Given the description of an element on the screen output the (x, y) to click on. 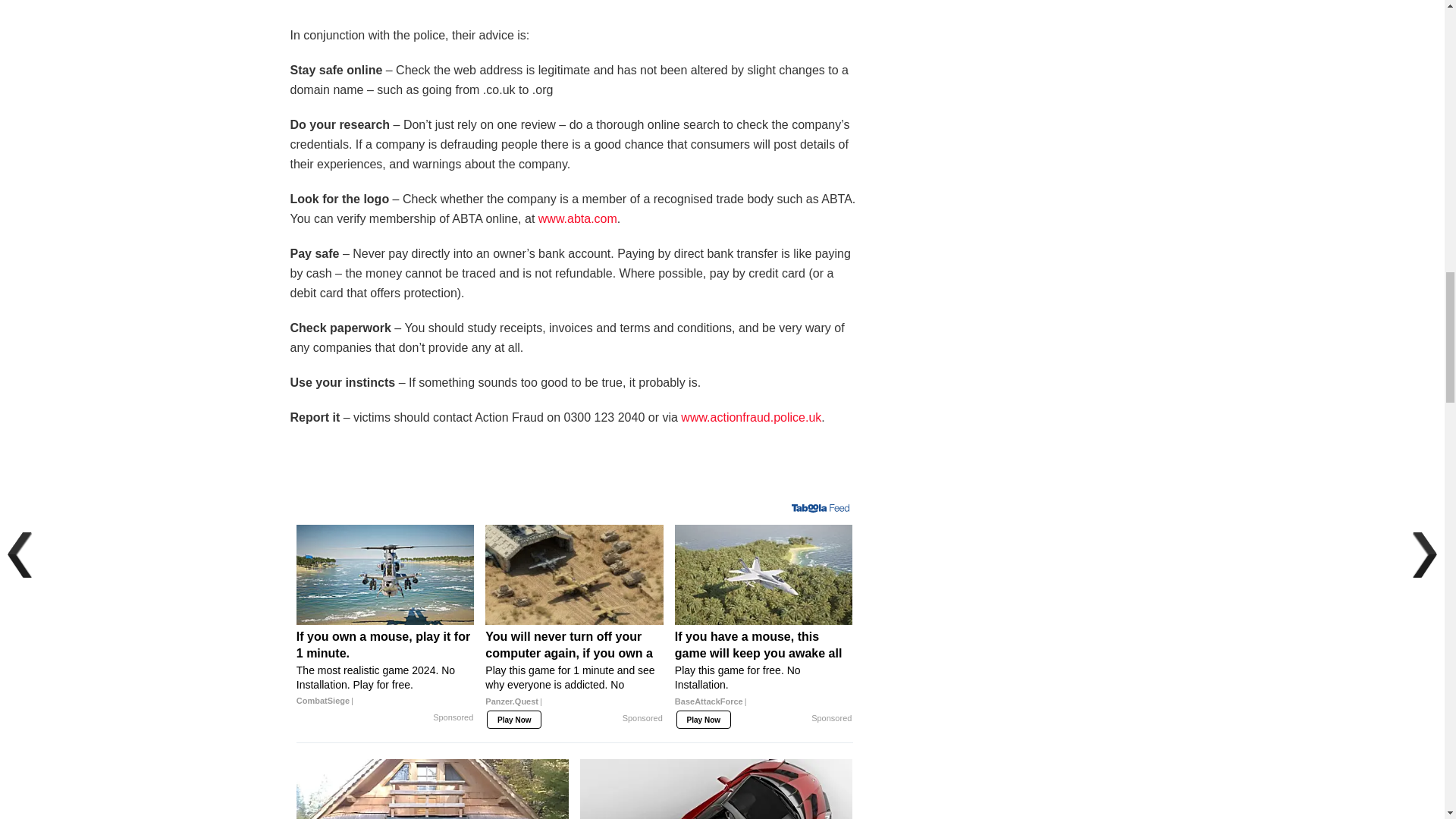
If you own a mouse, play it for 1 minute. (385, 668)
